Given the description of an element on the screen output the (x, y) to click on. 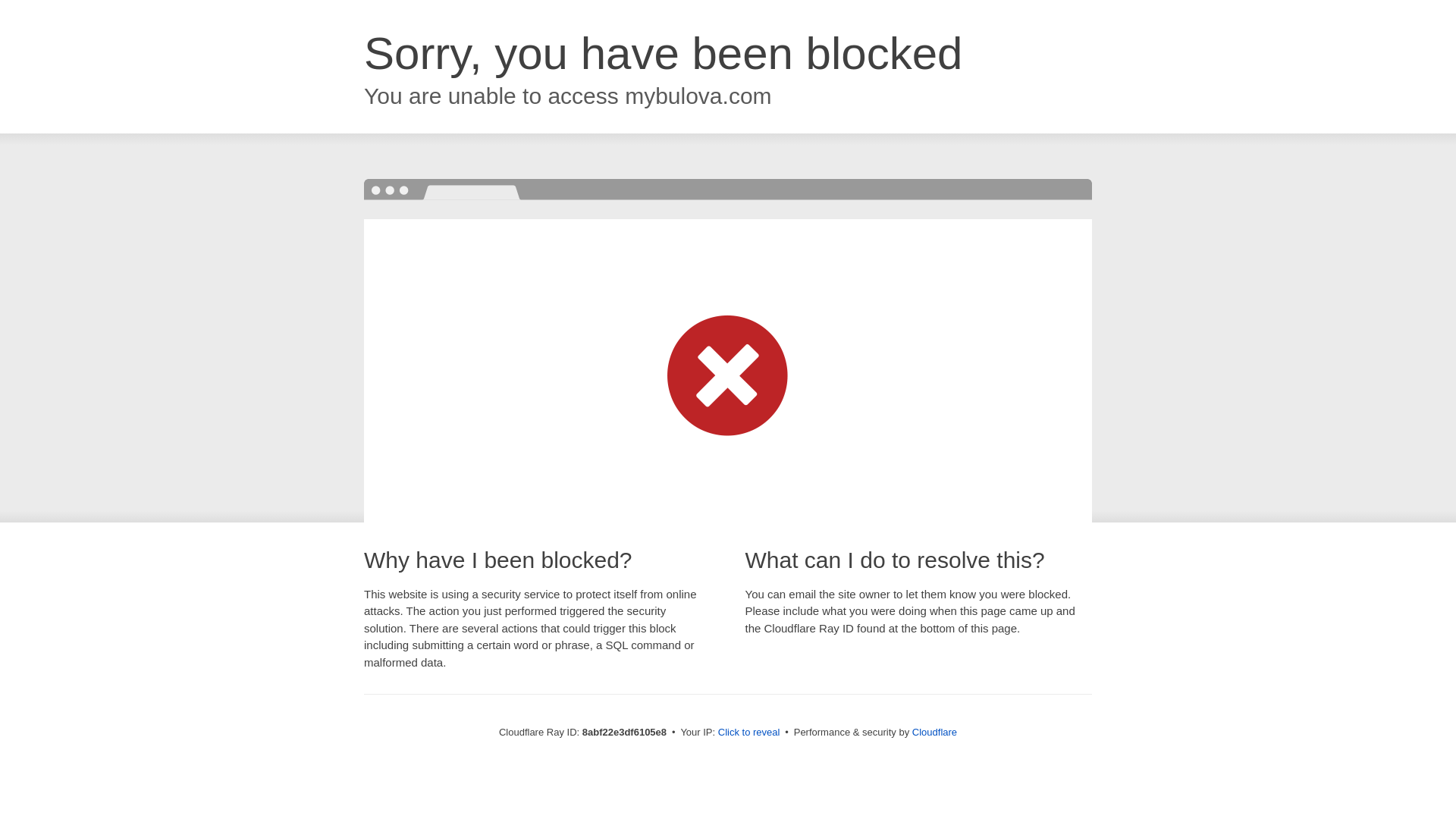
Cloudflare (934, 731)
Click to reveal (748, 732)
